Given the description of an element on the screen output the (x, y) to click on. 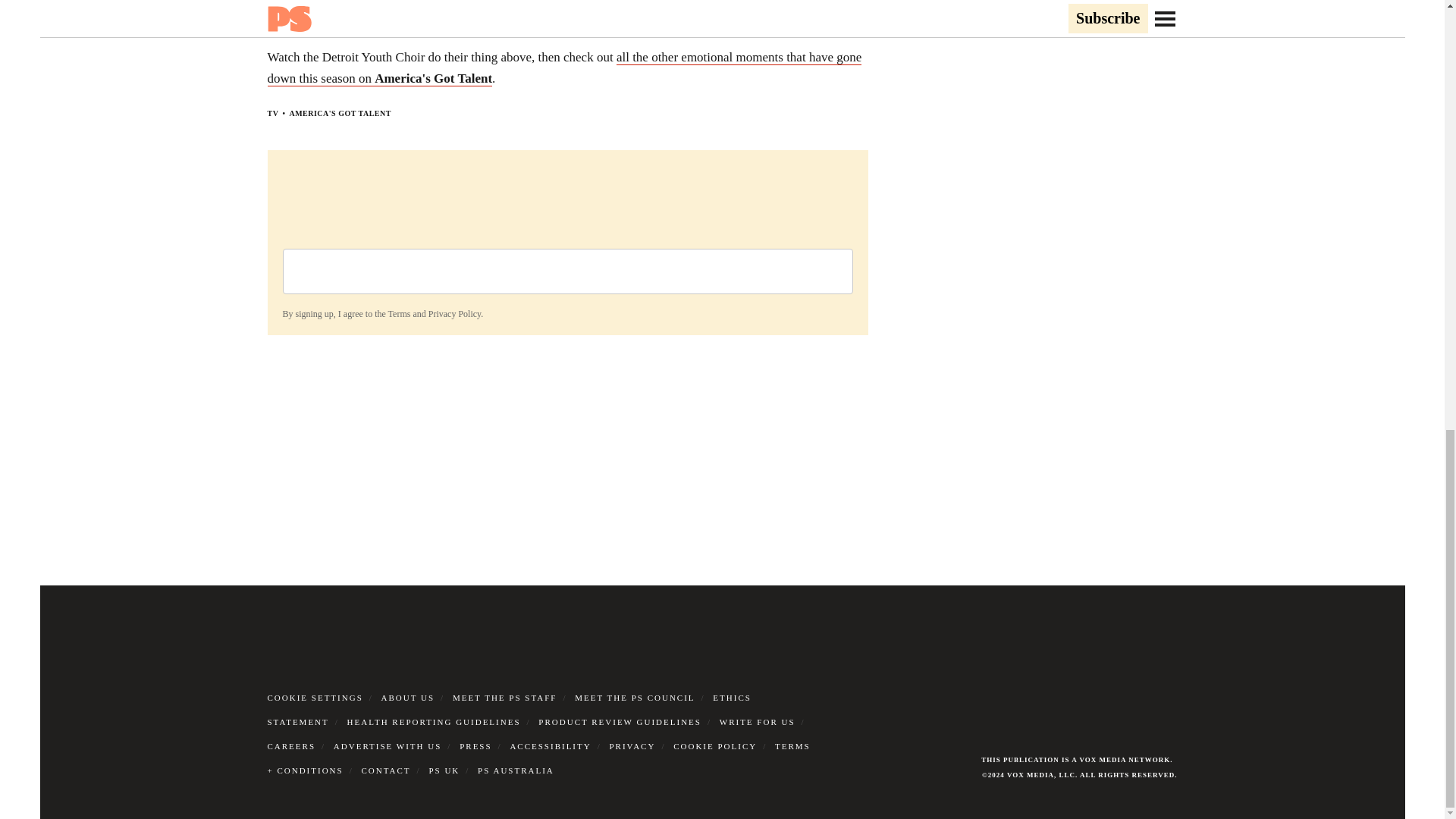
TV (272, 112)
Terms (399, 313)
12-year-old Broadway hopeful Luke Islam (479, 3)
11-year-old violinist Tyler Butler-Figueroa (717, 3)
HEALTH REPORTING GUIDELINES (434, 721)
ETHICS STATEMENT (508, 709)
ACCESSIBILITY (550, 746)
PRODUCT REVIEW GUIDELINES (619, 721)
WRITE FOR US (756, 721)
